Given the description of an element on the screen output the (x, y) to click on. 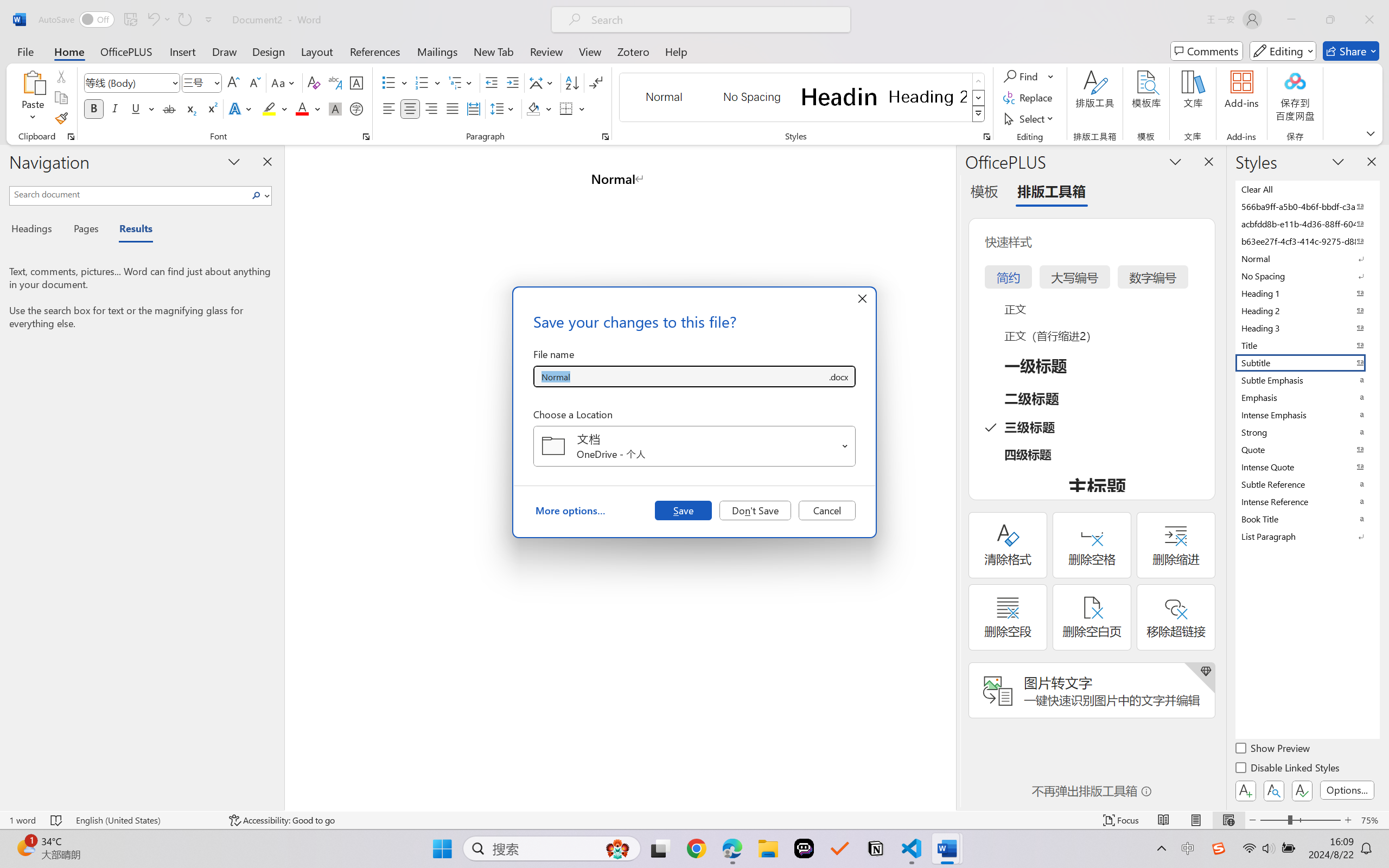
Normal (1306, 258)
Poe (804, 848)
New Tab (493, 51)
Clear Formatting (313, 82)
List Paragraph (1306, 536)
Title (1306, 345)
Quick Access Toolbar (127, 19)
Review (546, 51)
Choose a Location (694, 446)
Word Count 1 word (21, 819)
Strong (1306, 431)
Spelling and Grammar Check No Errors (56, 819)
